Given the description of an element on the screen output the (x, y) to click on. 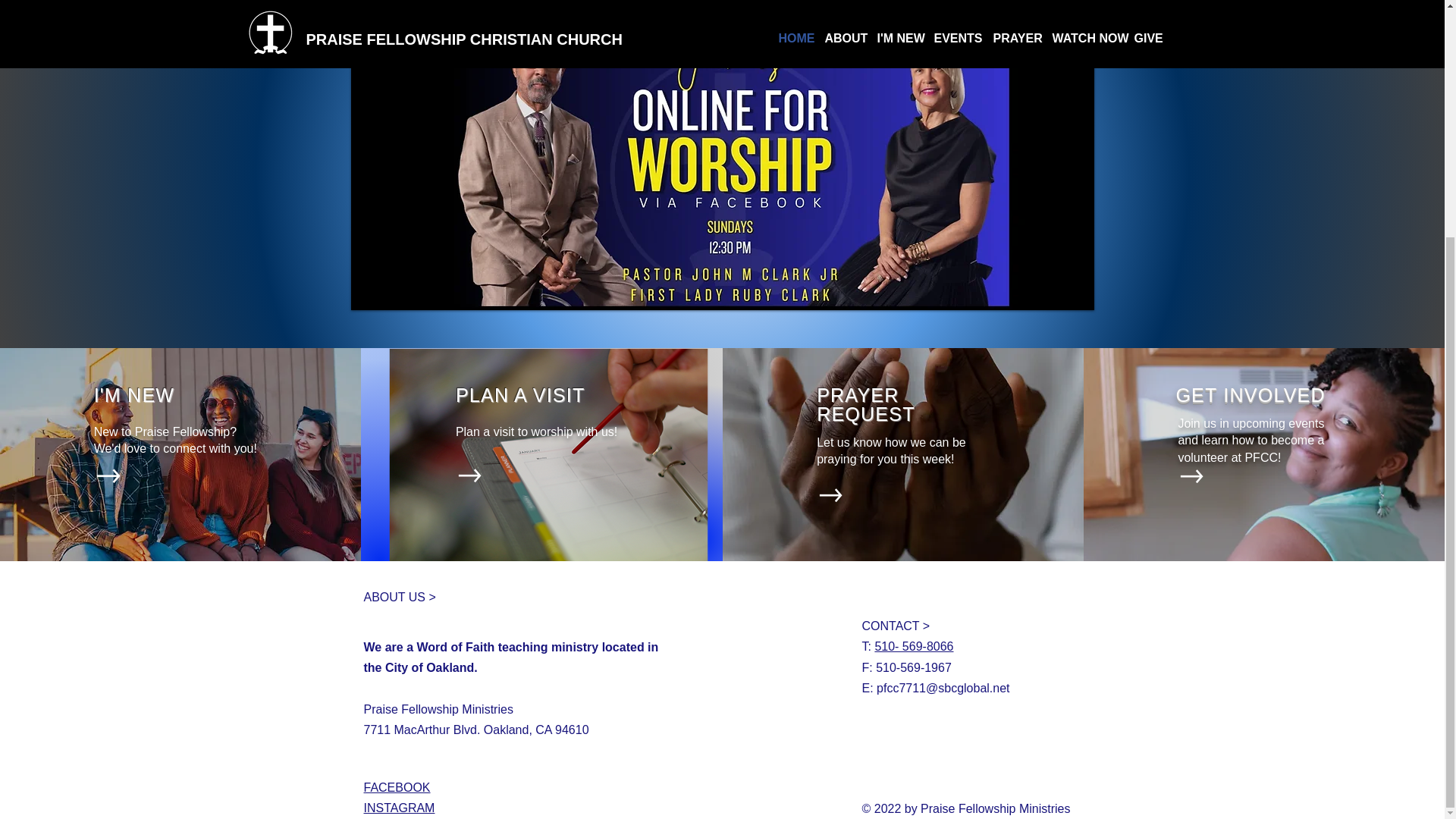
INSTAGRAM (399, 807)
FACEBOOK (397, 787)
510- 569-8066 (914, 645)
